Given the description of an element on the screen output the (x, y) to click on. 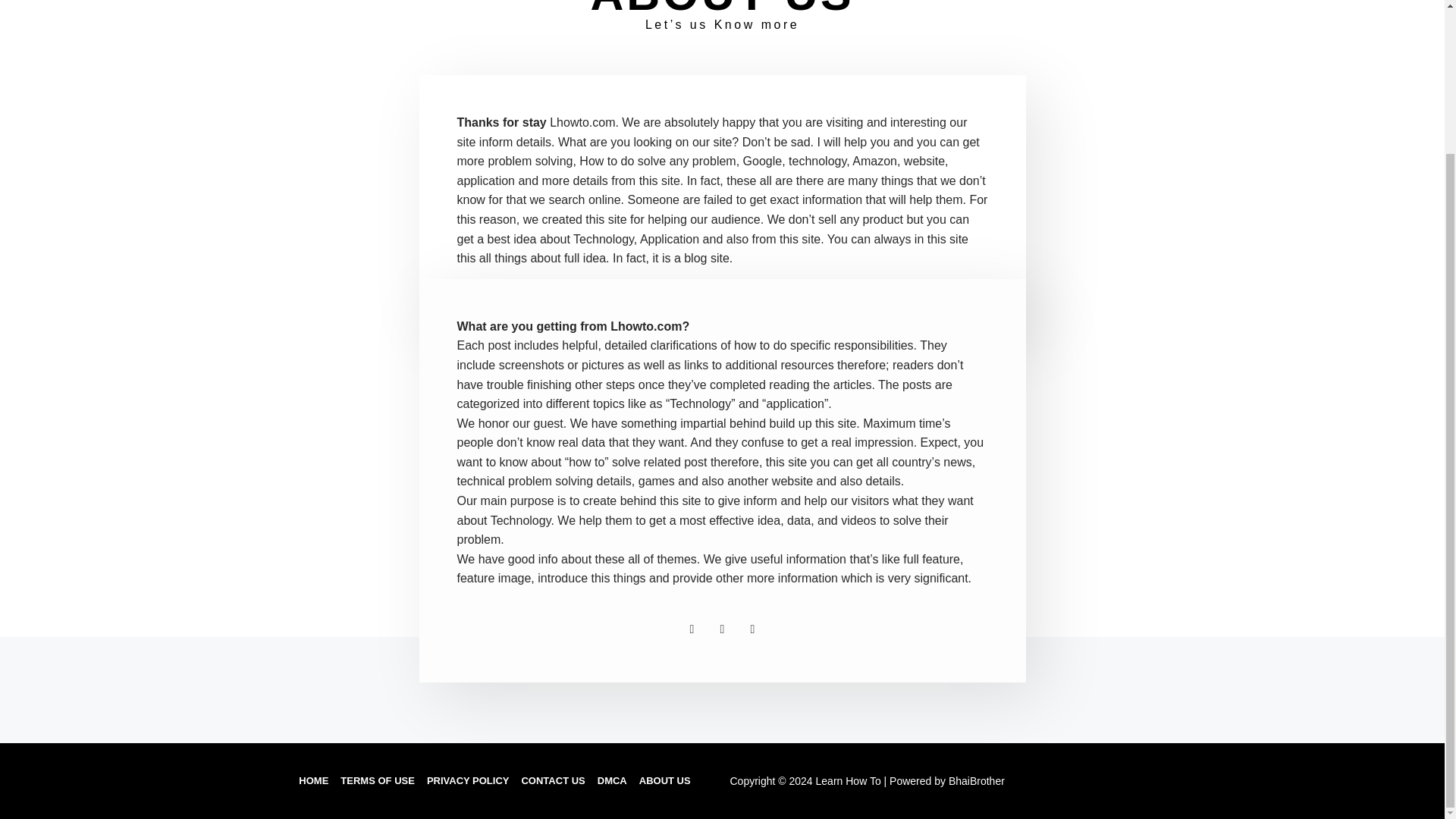
ABOUT US (664, 780)
HOME (313, 780)
DMCA (611, 780)
PRIVACY POLICY (467, 780)
TERMS OF USE (377, 780)
CONTACT US (553, 780)
